Given the description of an element on the screen output the (x, y) to click on. 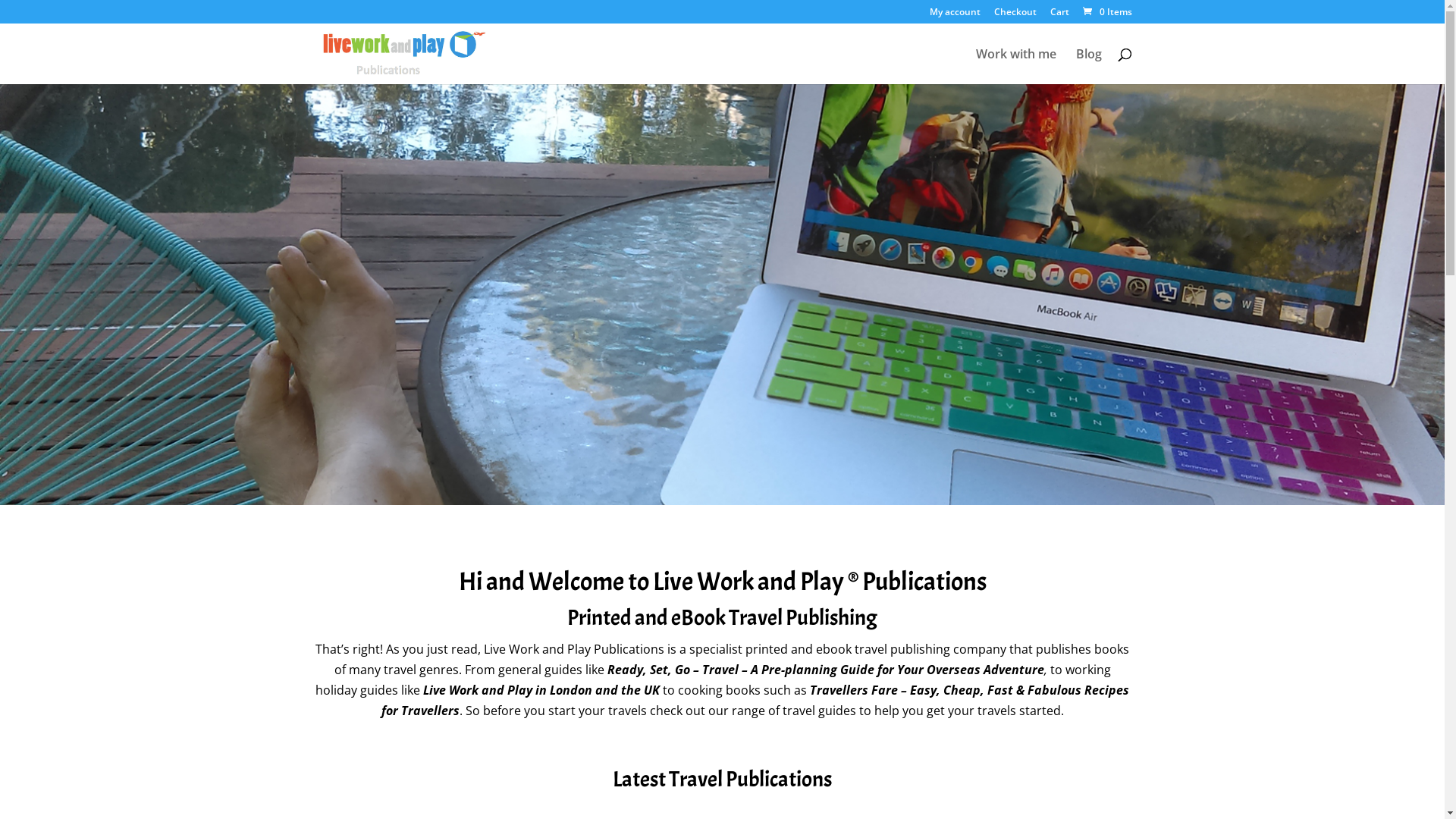
Checkout Element type: text (1014, 15)
Blog Element type: text (1088, 66)
Work with me Element type: text (1015, 66)
0 Items Element type: text (1105, 11)
Cart Element type: text (1058, 15)
My account Element type: text (954, 15)
